Given the description of an element on the screen output the (x, y) to click on. 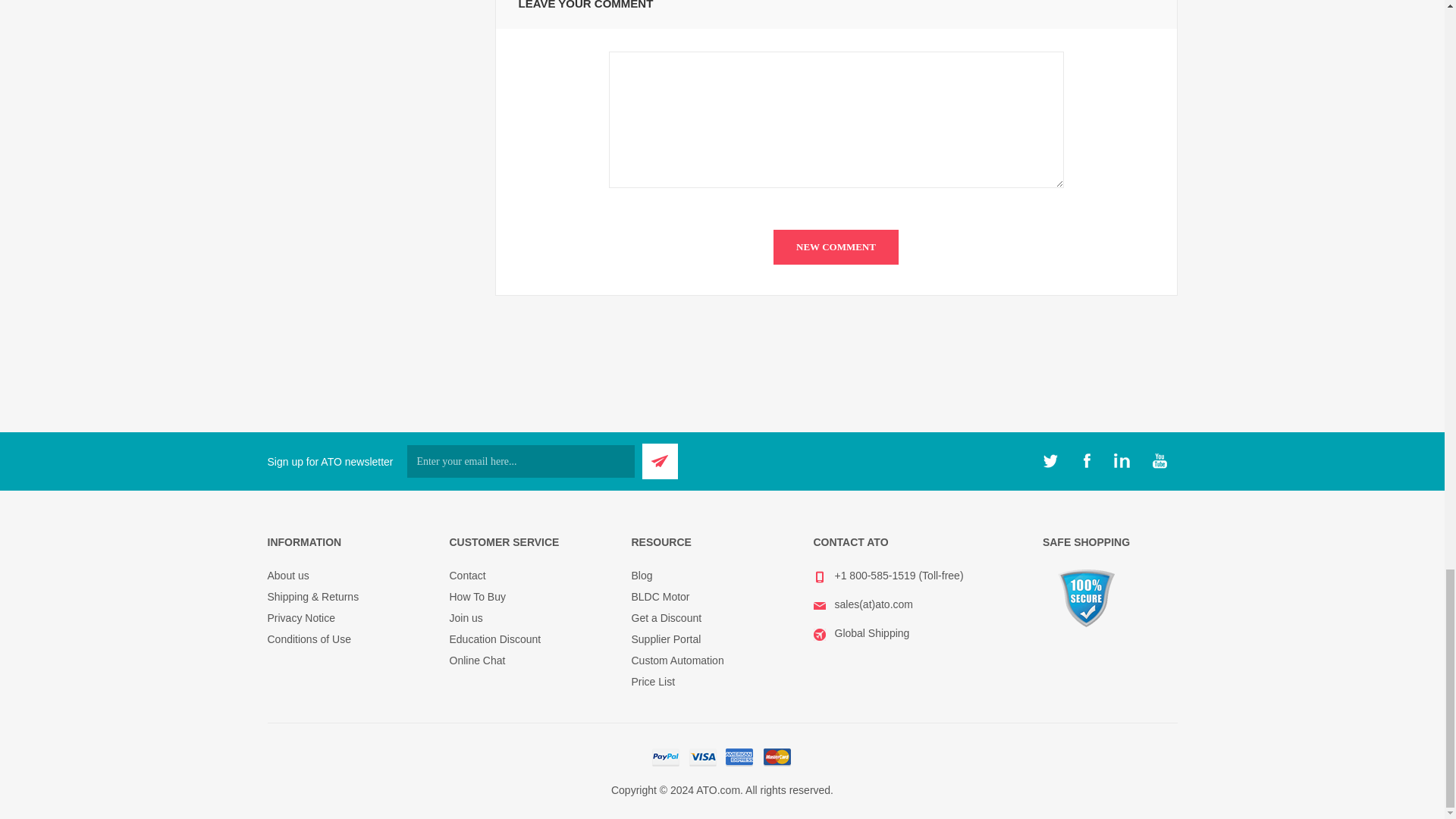
New comment (835, 247)
Send (660, 461)
